Given the description of an element on the screen output the (x, y) to click on. 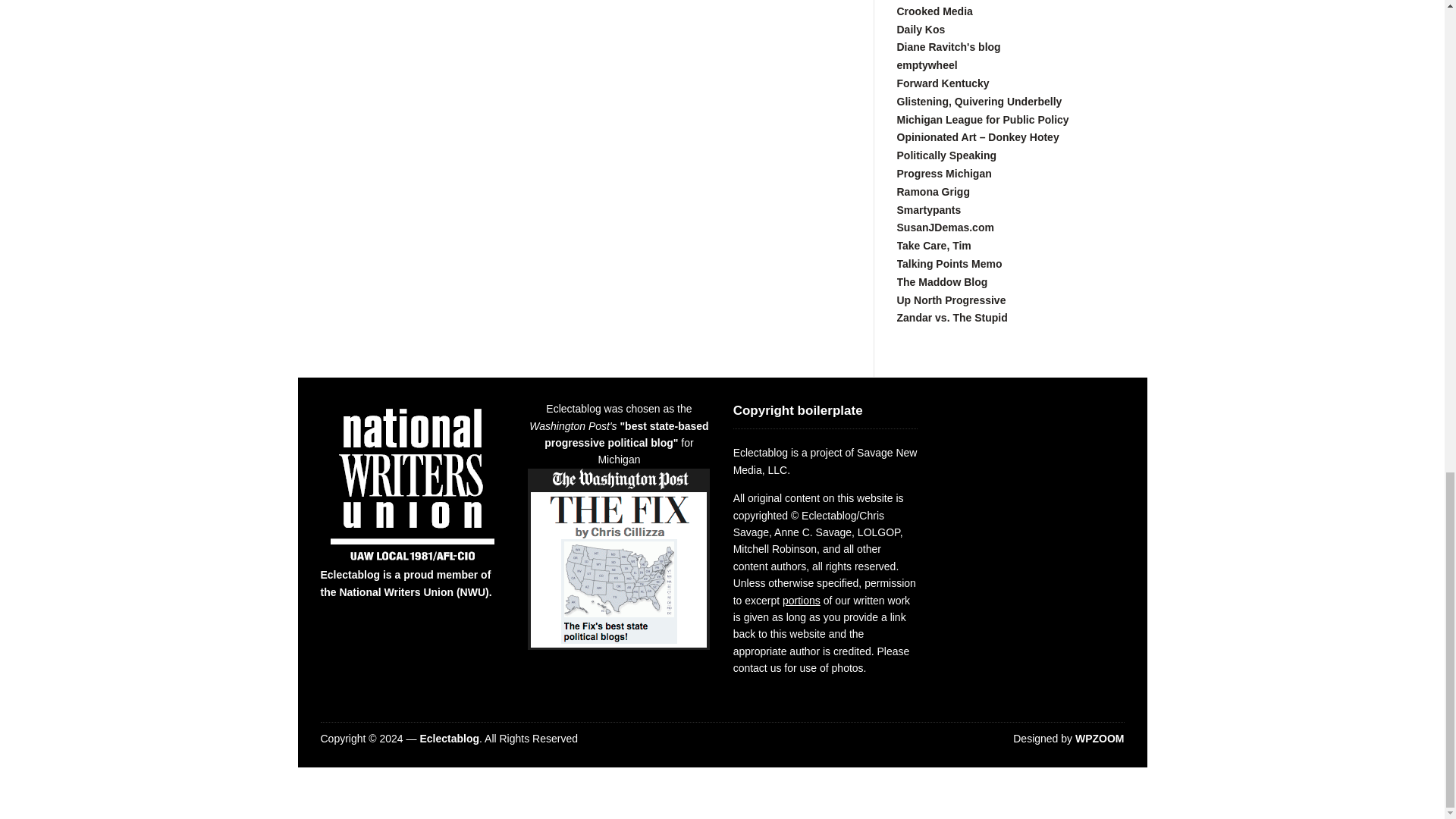
Pod will save everything (934, 10)
The progressive voice for Kentucky politics (942, 82)
